Given the description of an element on the screen output the (x, y) to click on. 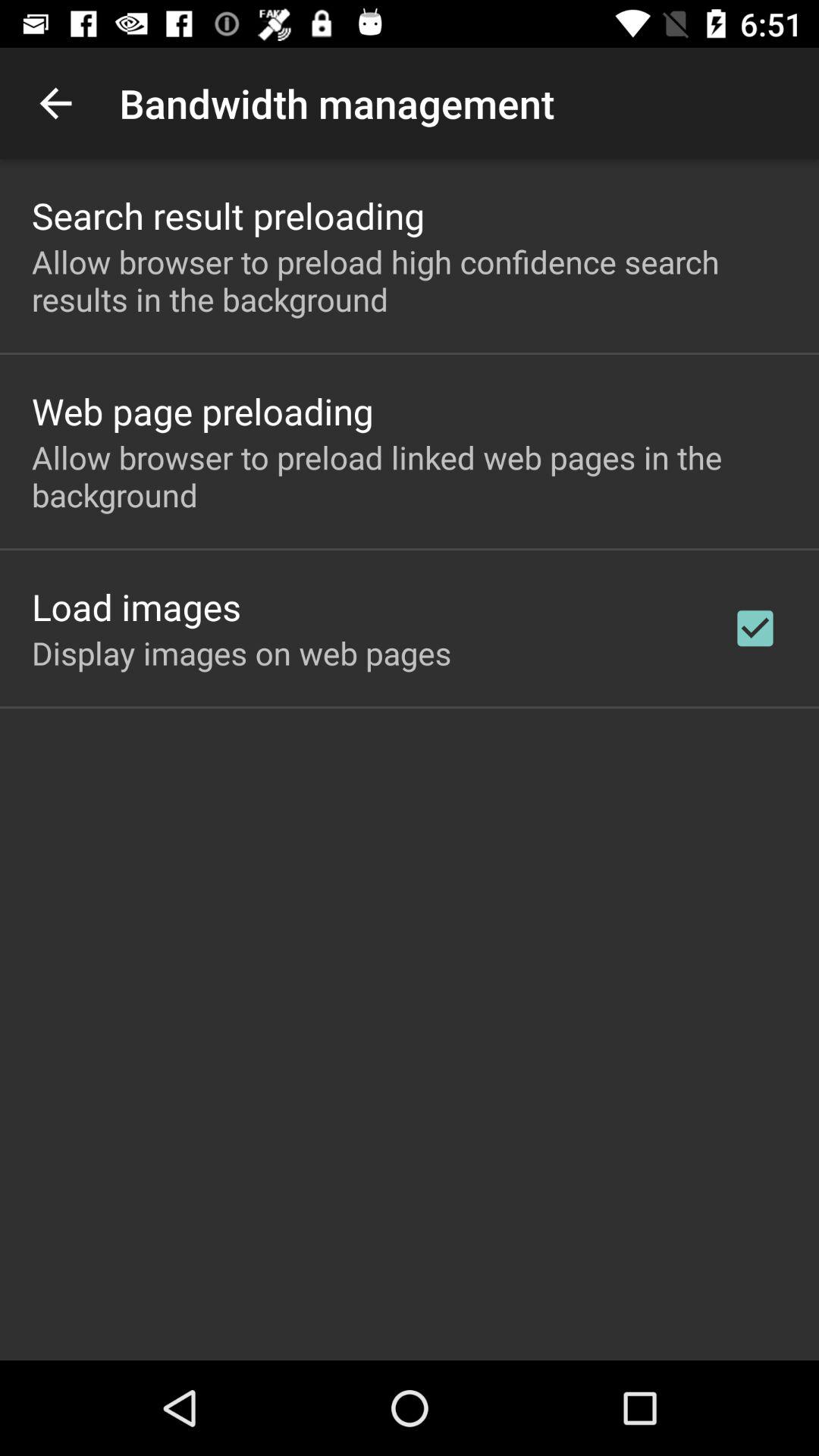
choose item above the allow browser to item (227, 215)
